Given the description of an element on the screen output the (x, y) to click on. 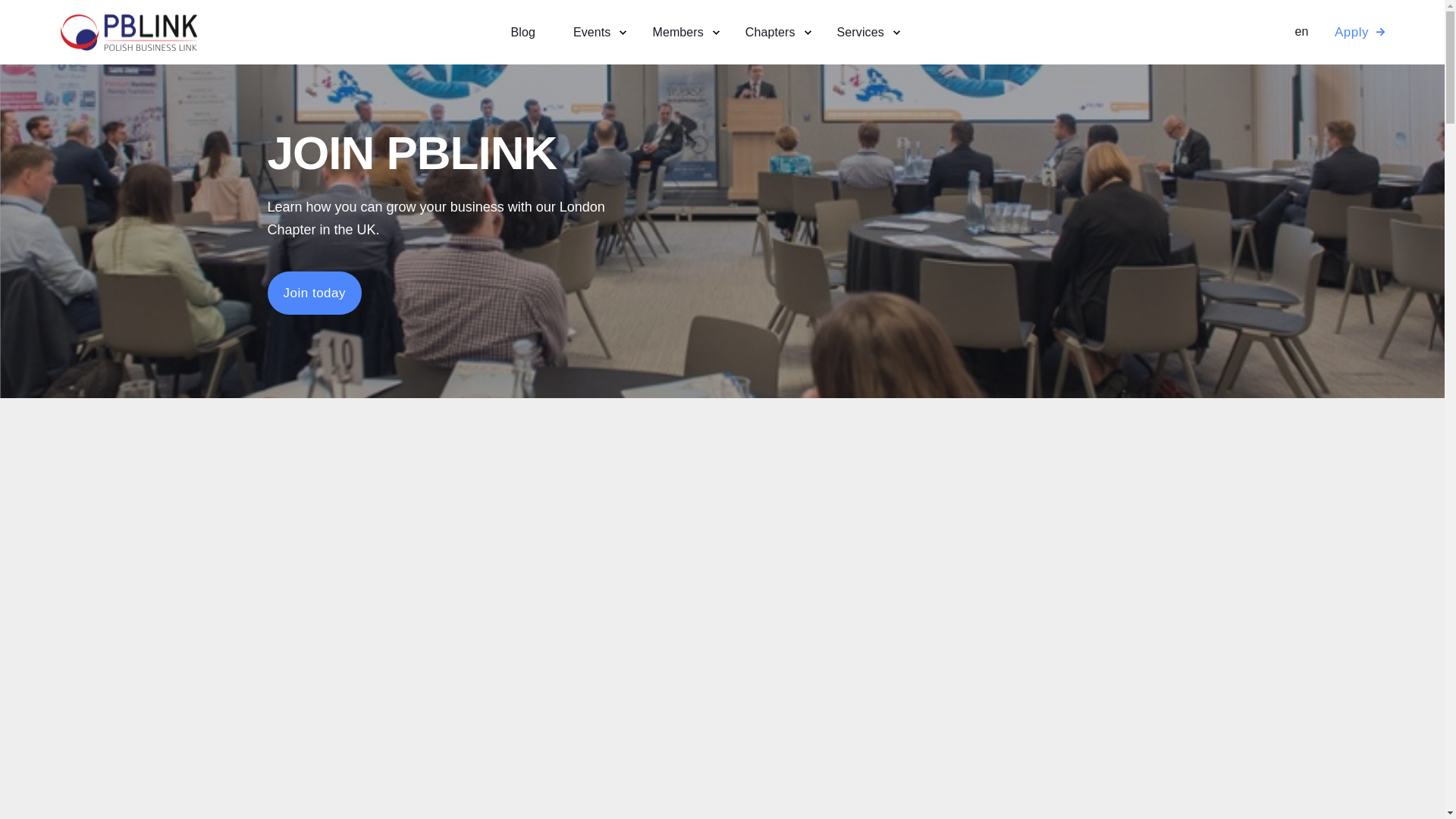
Button Apply (1351, 32)
Button Join today (313, 292)
Chapters (772, 32)
Members (679, 32)
Events (593, 32)
